Given the description of an element on the screen output the (x, y) to click on. 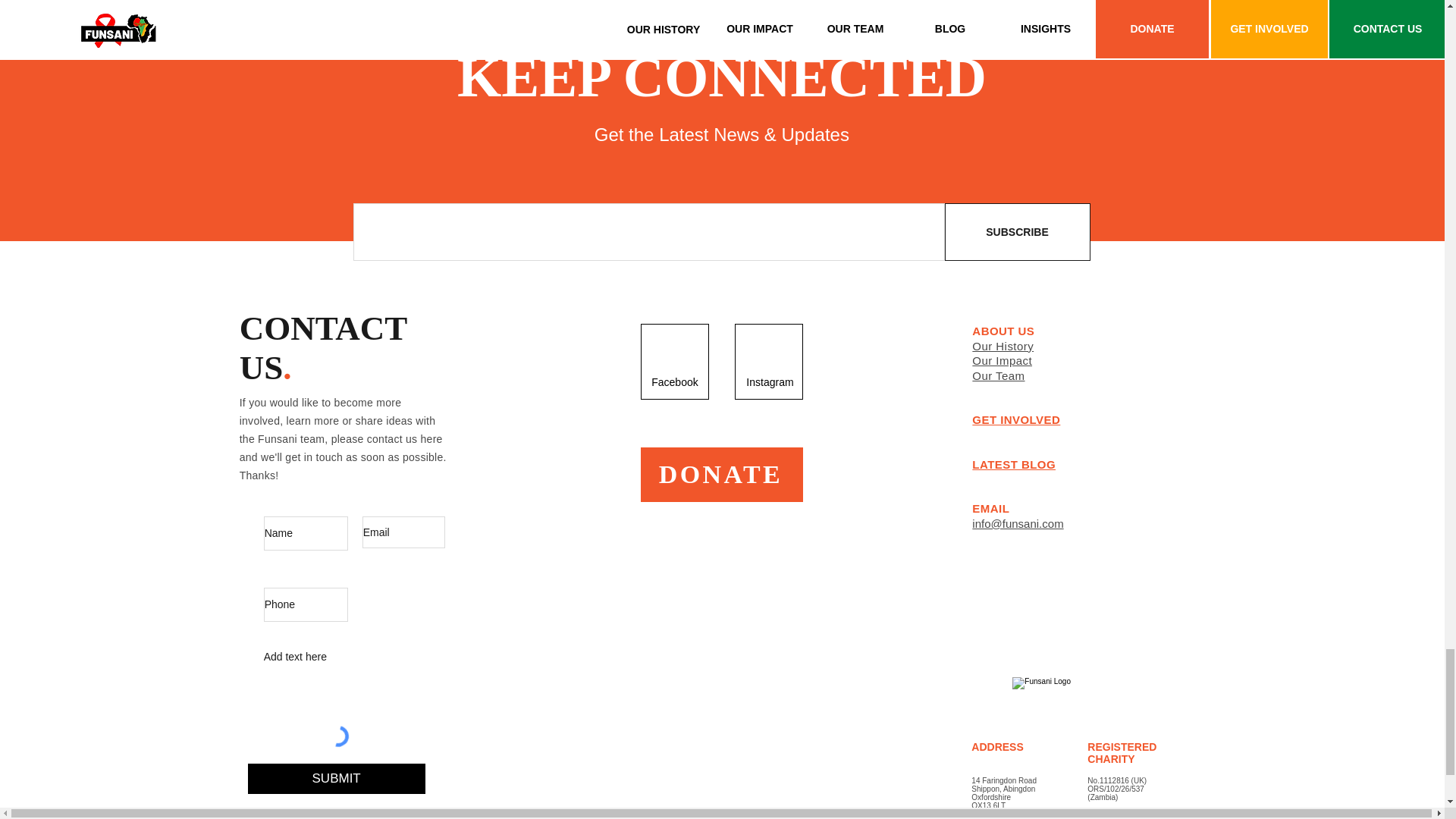
Our History (1002, 345)
SUBSCRIBE (1017, 232)
SUBMIT (336, 778)
DONATE (721, 474)
Instagram (769, 381)
Facebook (674, 381)
